Given the description of an element on the screen output the (x, y) to click on. 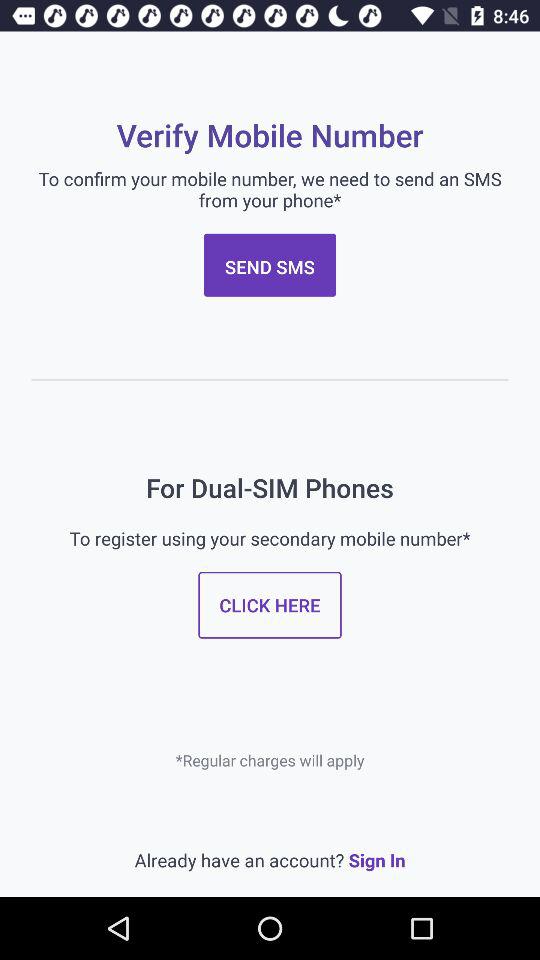
tap the item below regular charges will (270, 859)
